Given the description of an element on the screen output the (x, y) to click on. 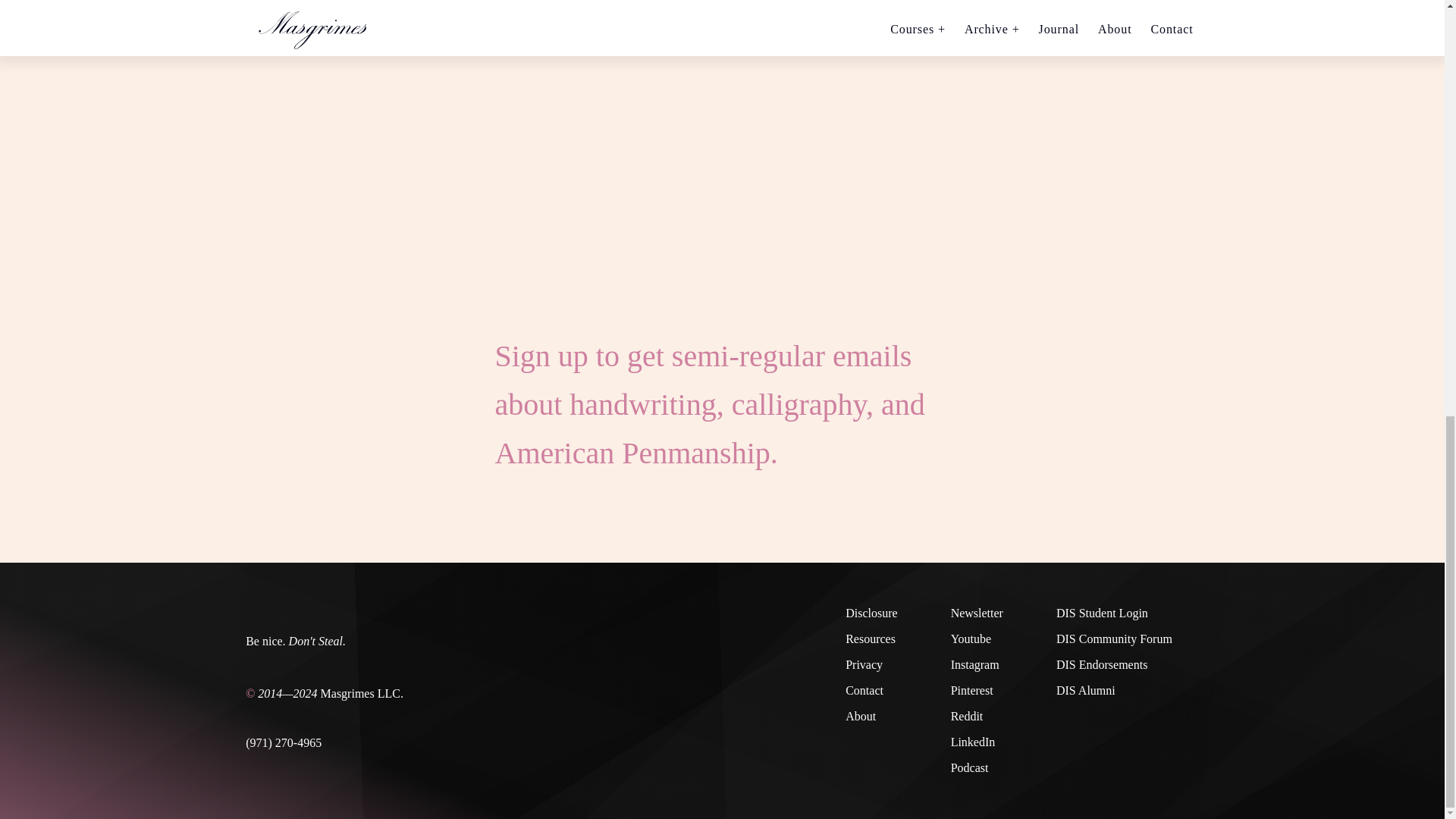
DIS Alumni (1114, 690)
DIS Student Login (1114, 613)
Newsletter (976, 613)
Disclosure (870, 613)
Pinterest (976, 690)
Reddit (976, 716)
Contact (870, 690)
LinkedIn (976, 742)
Podcast (976, 768)
Youtube (976, 638)
